Given the description of an element on the screen output the (x, y) to click on. 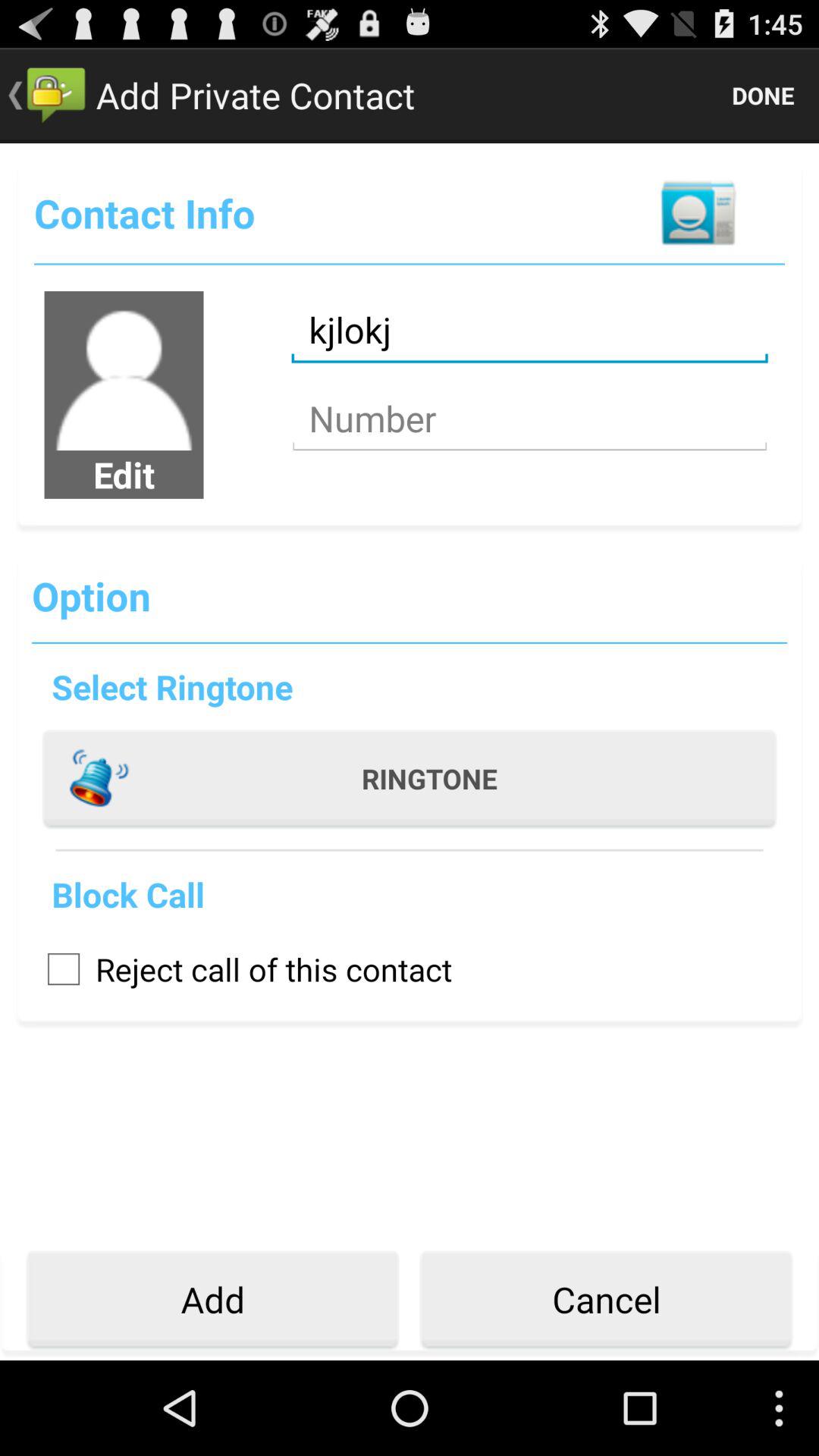
jump until the edit app (123, 474)
